Given the description of an element on the screen output the (x, y) to click on. 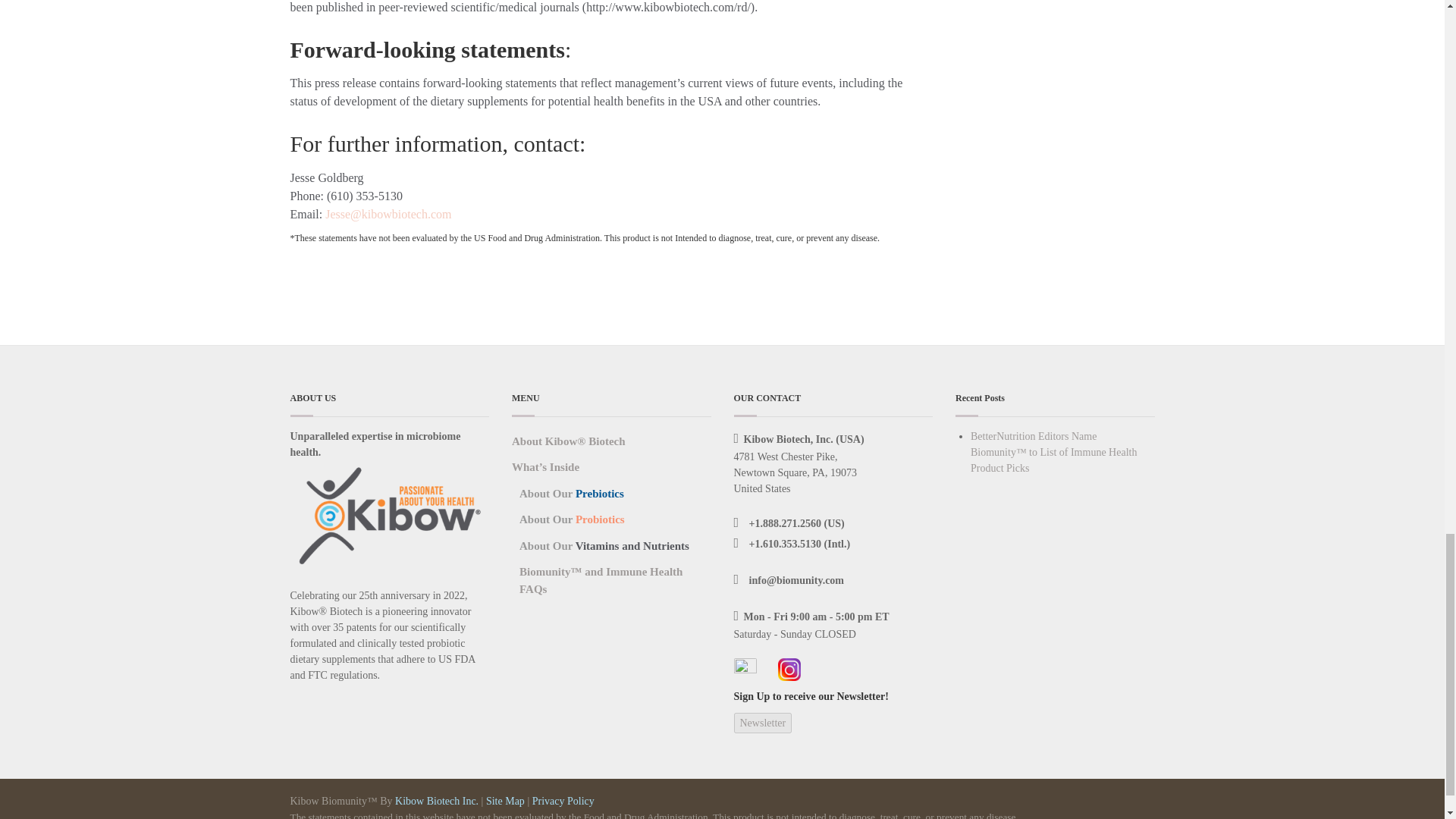
News Letter (762, 722)
